Given the description of an element on the screen output the (x, y) to click on. 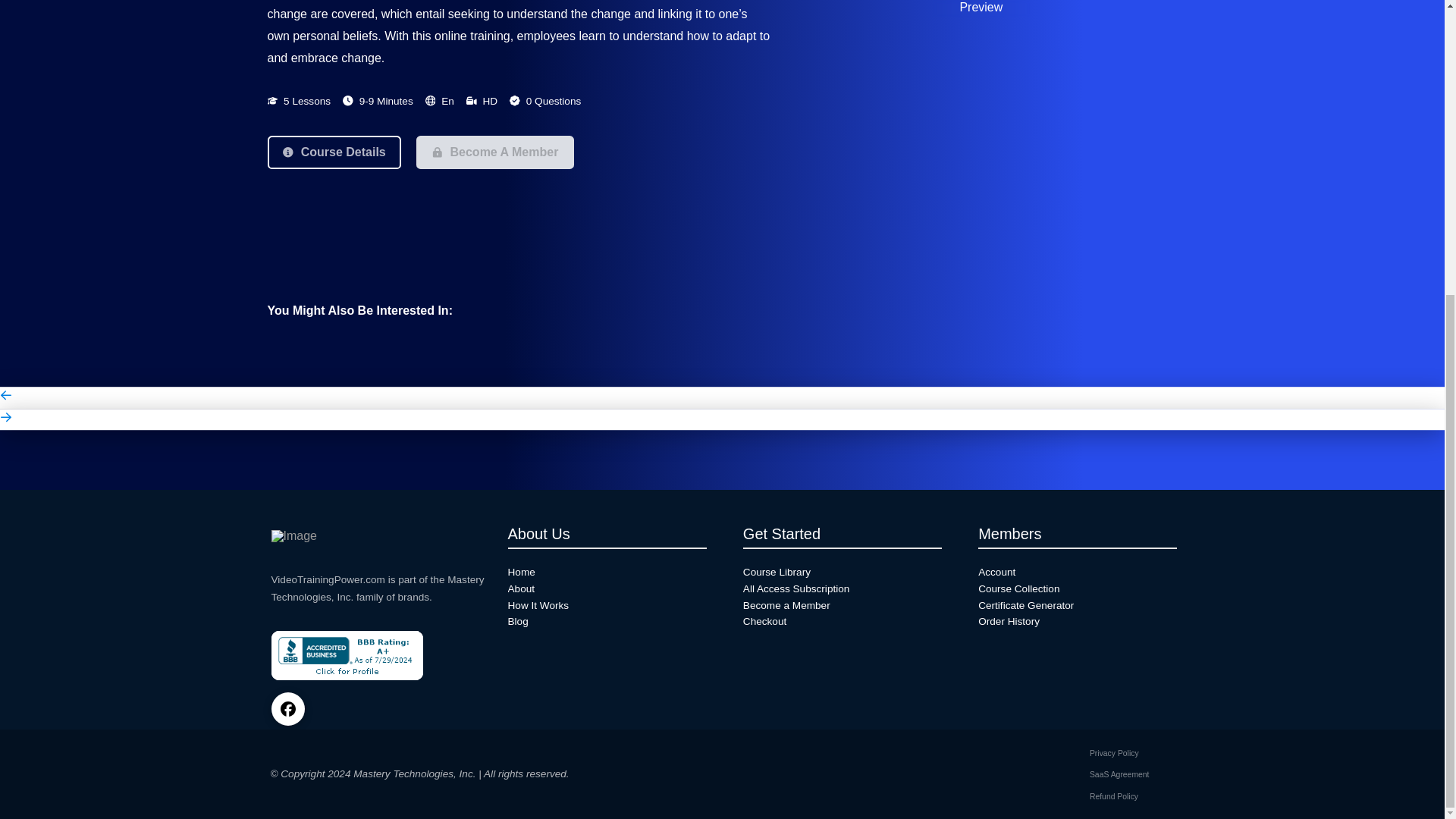
Refund Policy (1113, 796)
Privacy Policy (1114, 753)
How It Works (607, 605)
About (607, 588)
Order History (1077, 621)
All Access Subscription (842, 588)
Blog (607, 621)
Course Library (842, 572)
Certificate Generator (1077, 605)
Checkout (842, 621)
Course Collection (1077, 588)
Account (1077, 572)
Become A Member (494, 151)
Become a Member (842, 605)
Home (607, 572)
